Given the description of an element on the screen output the (x, y) to click on. 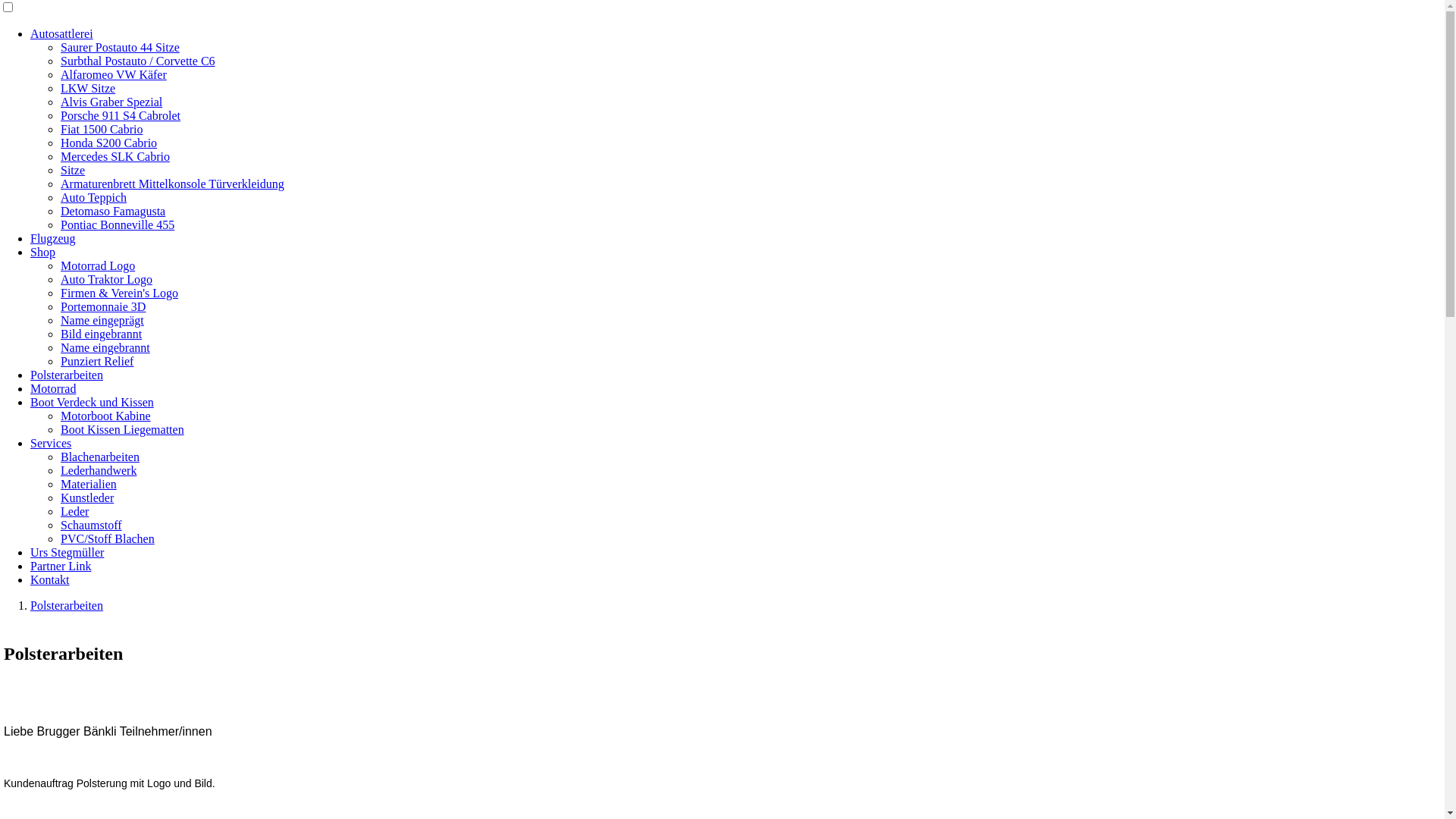
PVC/Stoff Blachen Element type: text (107, 538)
Polsterarbeiten Element type: text (66, 374)
Kontakt Element type: text (49, 579)
Blachenarbeiten Element type: text (99, 456)
Materialien Element type: text (88, 483)
Sitze Element type: text (72, 169)
Name eingebrannt Element type: text (105, 347)
Auto Teppich Element type: text (93, 197)
Pontiac Bonneville 455 Element type: text (117, 224)
Boot Verdeck und Kissen Element type: text (91, 401)
Polsterarbeiten Element type: text (66, 605)
Detomaso Famagusta Element type: text (112, 210)
Portemonnaie 3D Element type: text (102, 306)
Firmen & Verein's Logo Element type: text (119, 292)
Bild eingebrannt Element type: text (100, 333)
Punziert Relief Element type: text (96, 360)
Motorboot Kabine Element type: text (105, 415)
Surbthal Postauto / Corvette C6 Element type: text (137, 60)
Saurer Postauto 44 Sitze Element type: text (119, 46)
Services Element type: text (50, 442)
Honda S200 Cabrio Element type: text (108, 142)
Porsche 911 S4 Cabrolet Element type: text (120, 115)
Autosattlerei Element type: text (61, 33)
Motorrad Logo Element type: text (97, 265)
Kunstleder Element type: text (86, 497)
Boot Kissen Liegematten Element type: text (122, 429)
Partner Link Element type: text (60, 565)
Fiat 1500 Cabrio Element type: text (101, 128)
Flugzeug Element type: text (52, 238)
Schaumstoff Element type: text (91, 524)
Alvis Graber Spezial Element type: text (111, 101)
LKW Sitze Element type: text (87, 87)
Leder Element type: text (74, 511)
Mercedes SLK Cabrio Element type: text (114, 156)
Shop Element type: text (42, 251)
Auto Traktor Logo Element type: text (106, 279)
Motorrad Element type: text (52, 388)
Lederhandwerk Element type: text (98, 470)
